Given the description of an element on the screen output the (x, y) to click on. 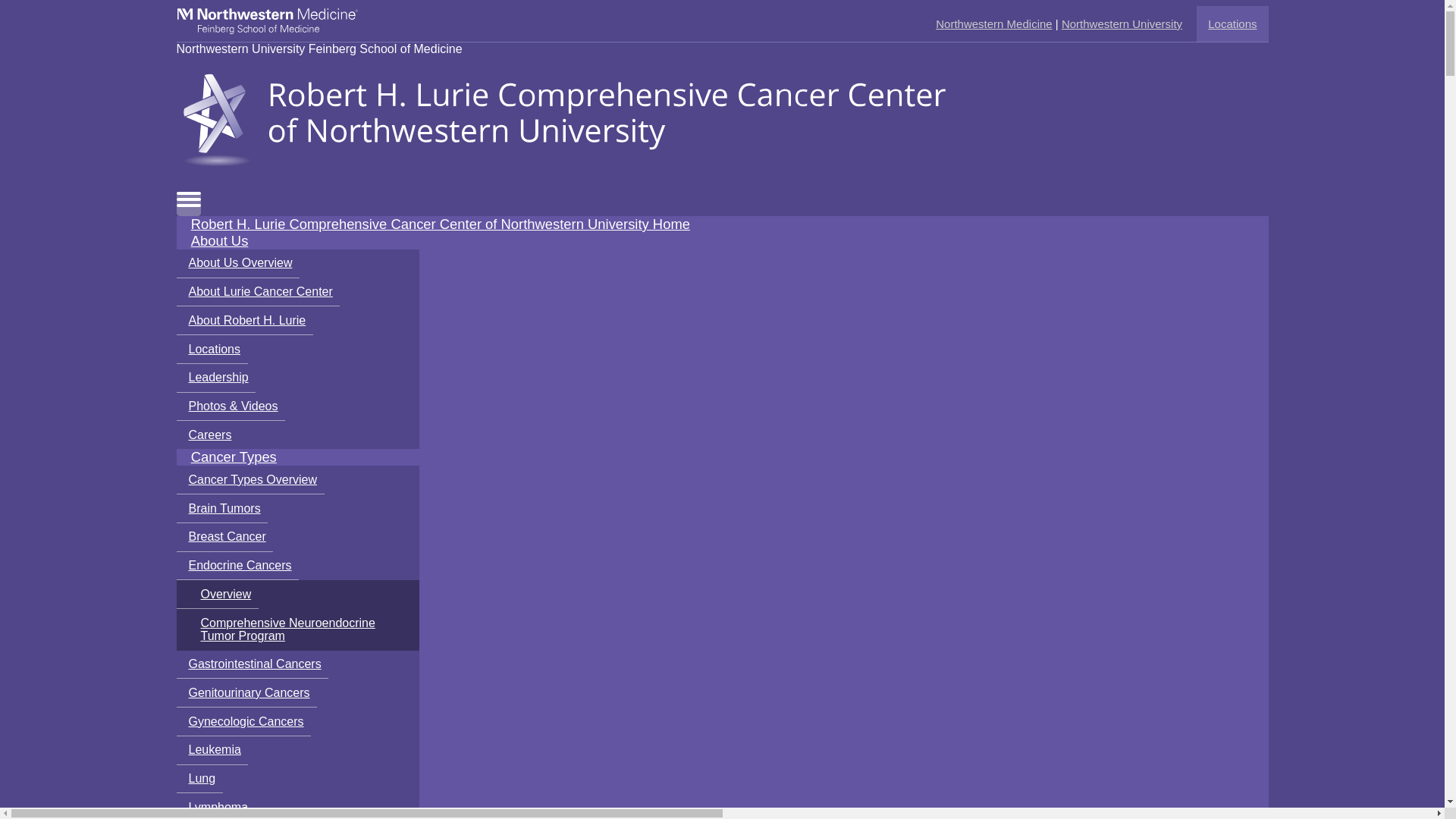
Lymphoma (215, 806)
Overview (216, 594)
Gastrointestinal Cancers (252, 664)
Locations (1232, 23)
Brain Tumors (221, 508)
About Robert H. Lurie (244, 320)
Breast Cancer (224, 537)
Leadership (216, 378)
Leukemia (211, 750)
Gynecologic Cancers (243, 721)
Endocrine Cancers (237, 566)
Comprehensive Neuroendocrine Tumor Program (297, 629)
Northwestern University (1121, 23)
Lung (199, 778)
